Given the description of an element on the screen output the (x, y) to click on. 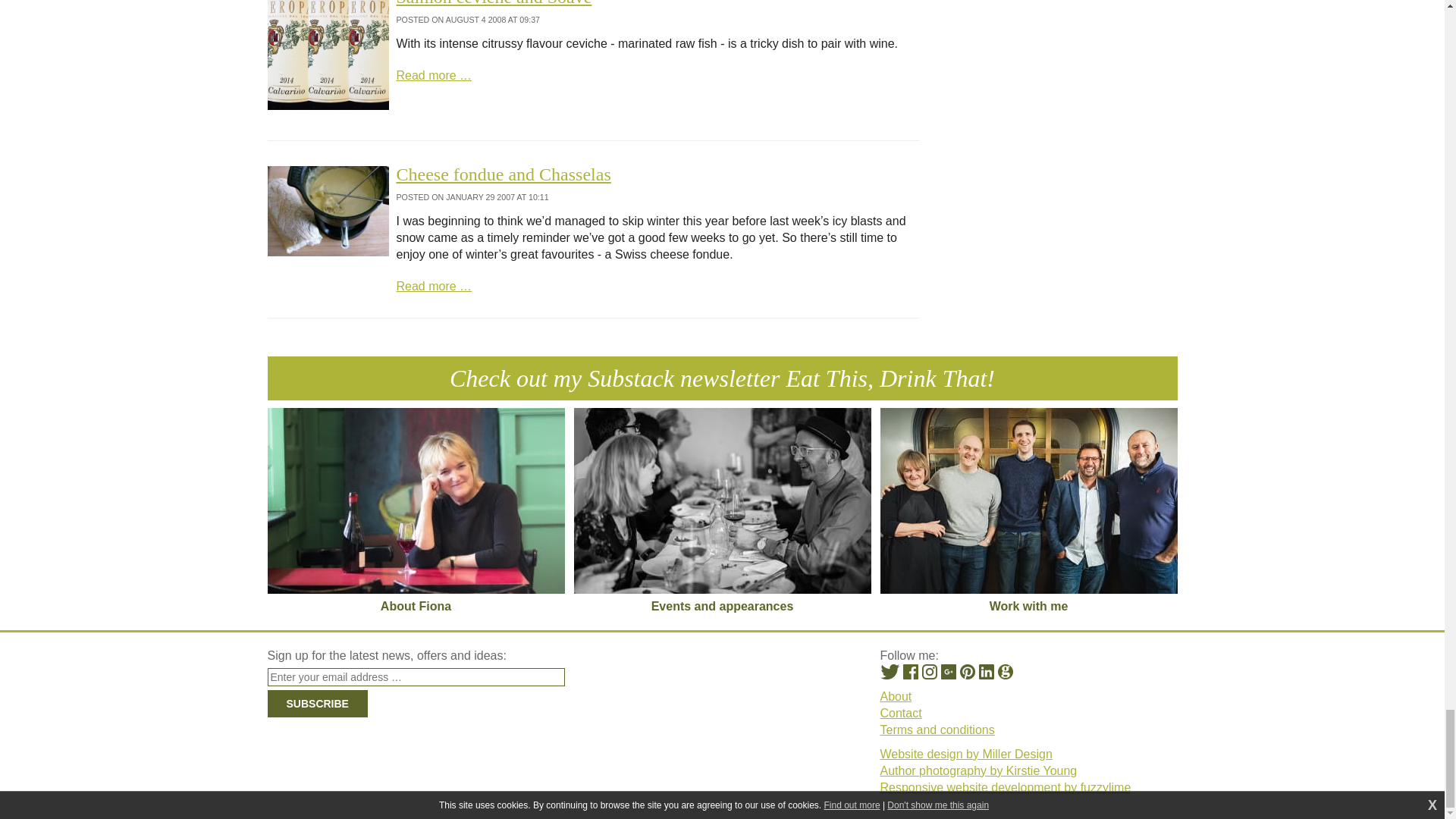
Subscribe (316, 703)
